Given the description of an element on the screen output the (x, y) to click on. 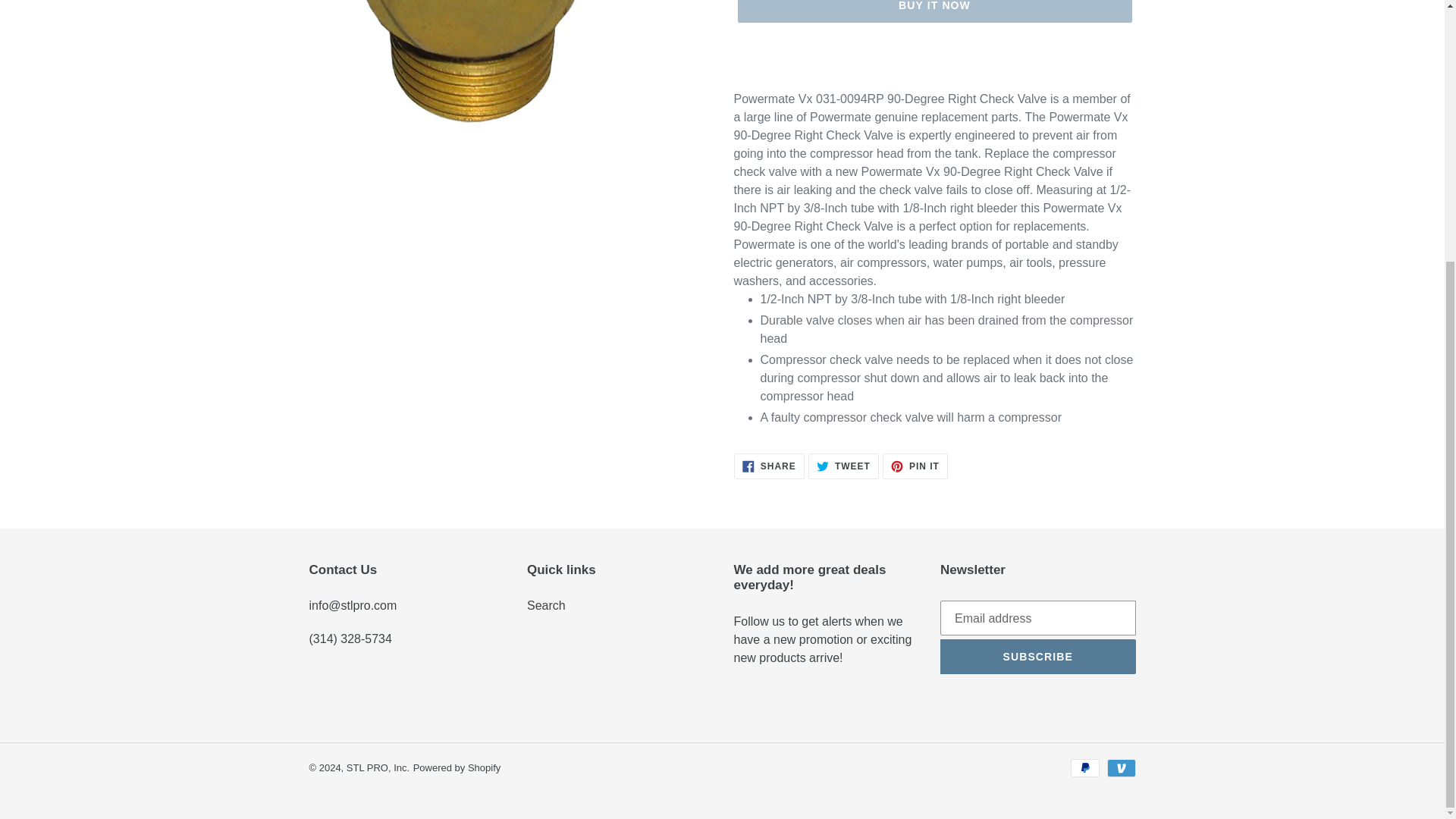
SUBSCRIBE (1037, 656)
BUY IT NOW (933, 11)
Powered by Shopify (456, 767)
Search (843, 466)
STL PRO, Inc. (546, 604)
